Given the description of an element on the screen output the (x, y) to click on. 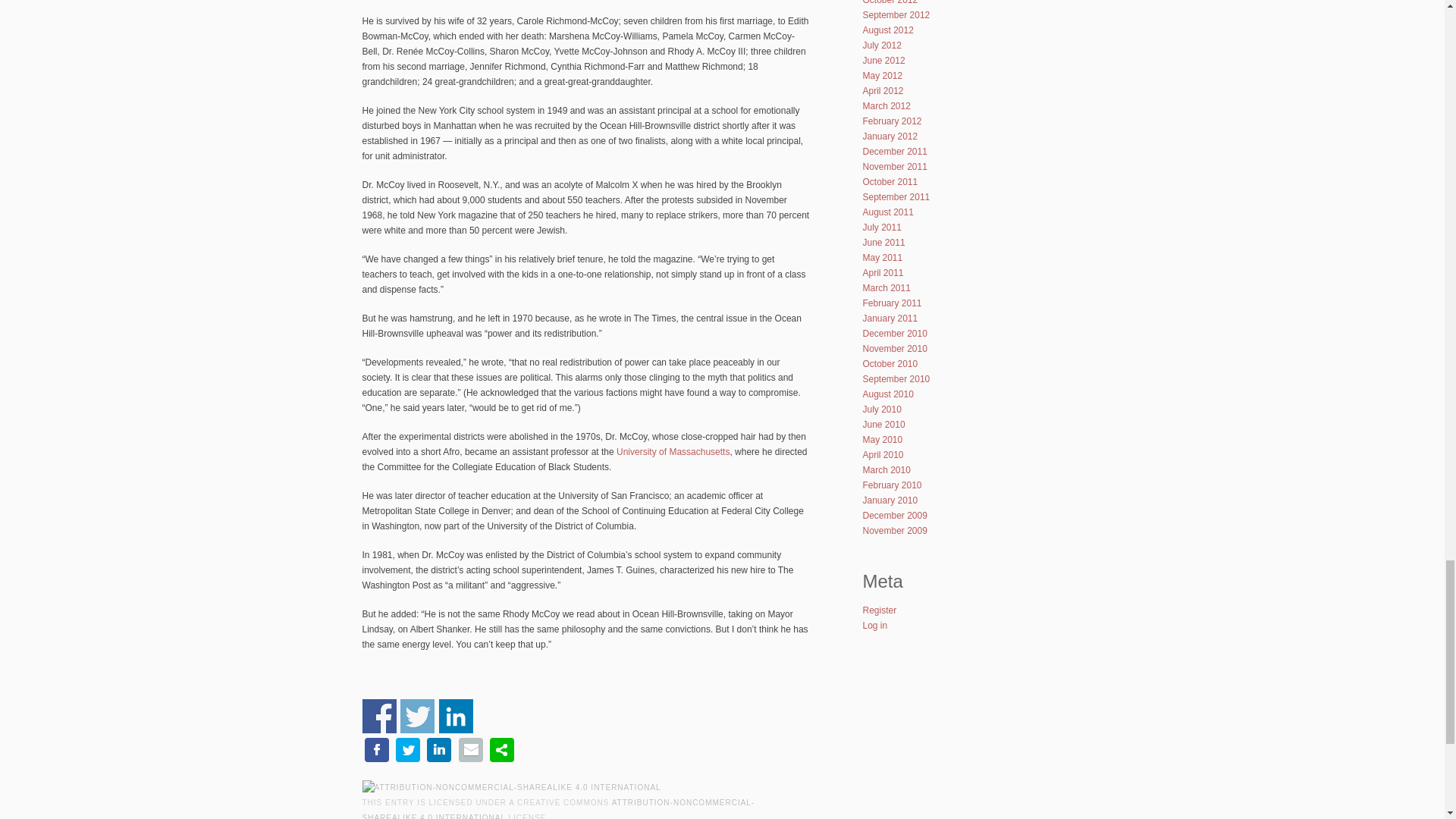
Share on Facebook (379, 716)
University of Massachusetts (672, 451)
Share on Linkedin (456, 716)
Share on Twitter (416, 716)
ATTRIBUTION-NONCOMMERCIAL-SHAREALIKE 4.0 INTERNATIONAL (558, 808)
